Given the description of an element on the screen output the (x, y) to click on. 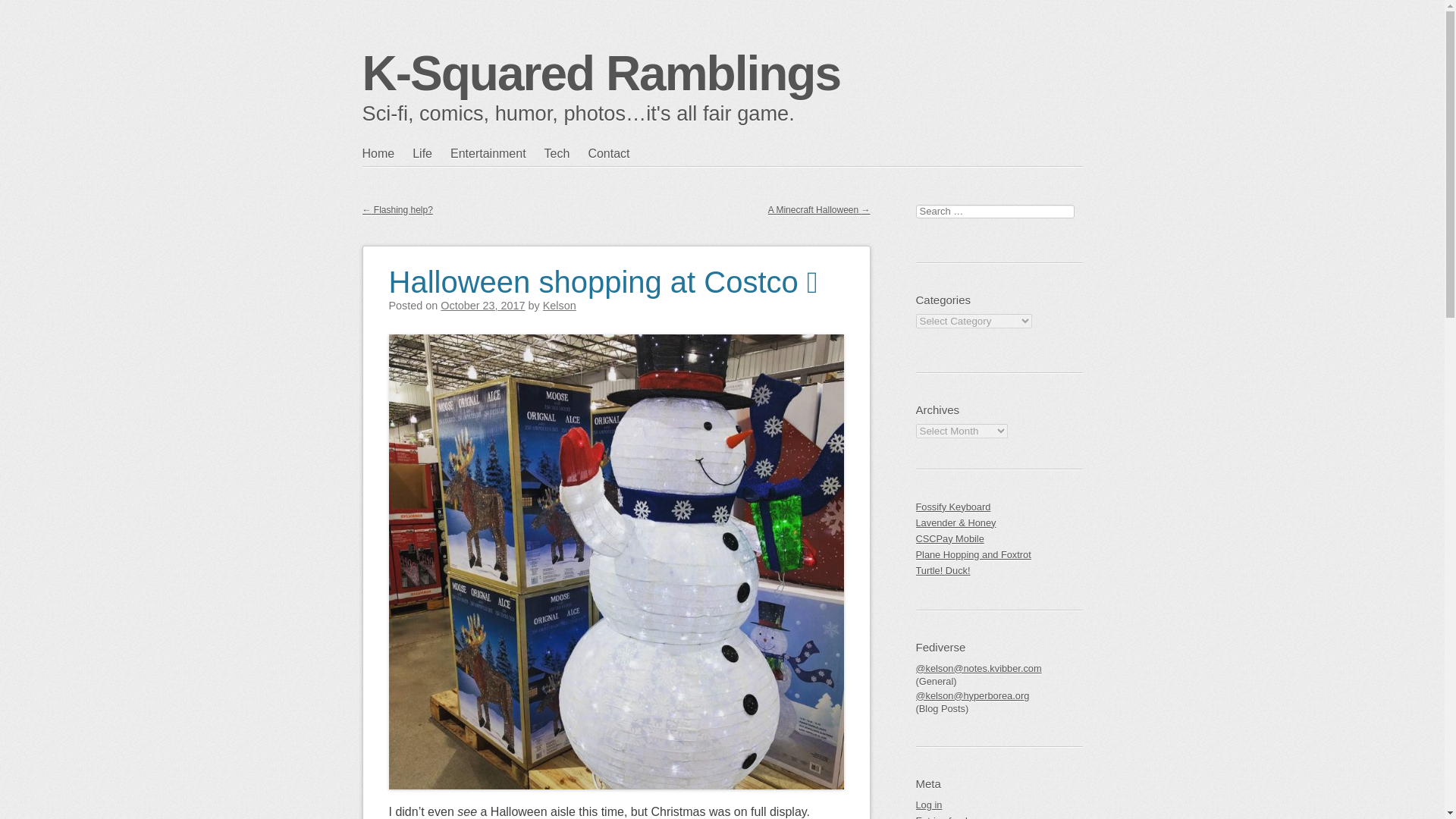
Plane Hopping and Foxtrot (999, 554)
CSCPay Mobile (999, 538)
K-Squared Ramblings (601, 72)
Contact (617, 153)
Search (24, 10)
Kelson (559, 305)
October 23, 2017 (482, 305)
Main menu (435, 183)
